Given the description of an element on the screen output the (x, y) to click on. 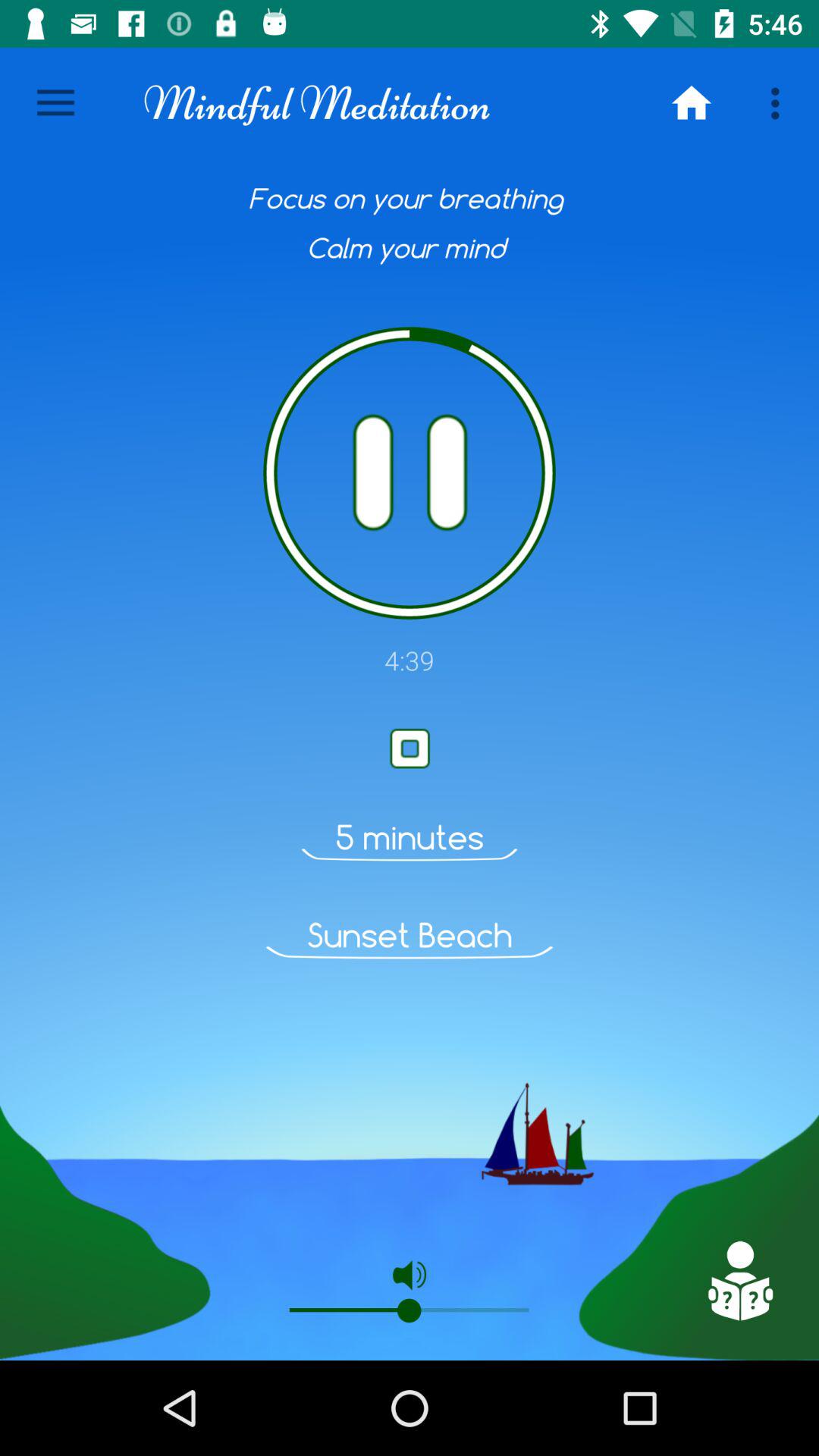
stop music (409, 748)
